Given the description of an element on the screen output the (x, y) to click on. 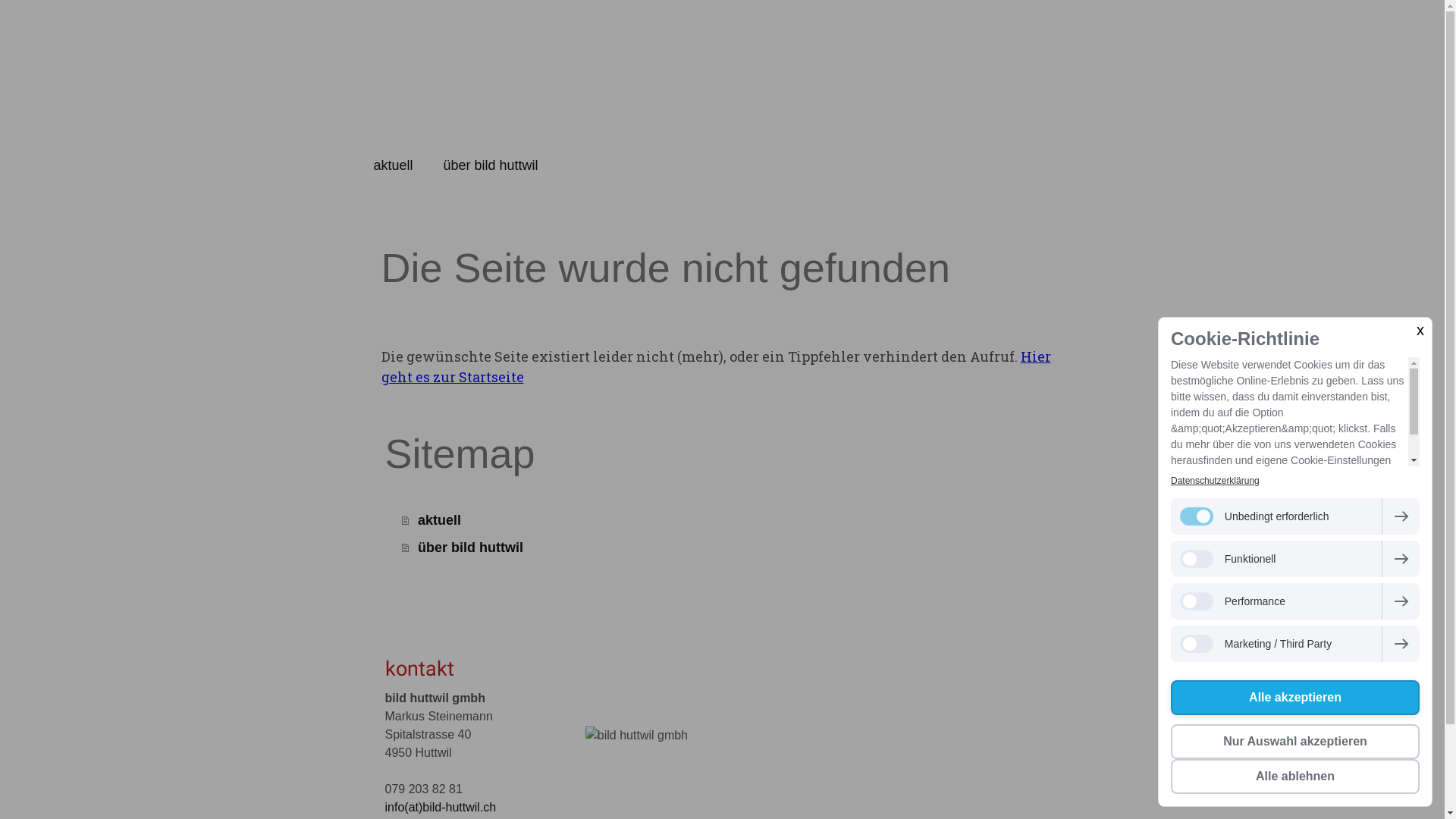
Hier geht es zur Startseite Element type: text (715, 366)
Alle akzeptieren Element type: text (1294, 697)
aktuell Element type: text (392, 165)
aktuell Element type: text (732, 519)
Nur Auswahl akzeptieren Element type: text (1294, 741)
info(at)bild-huttwil.ch Element type: text (440, 806)
Alle ablehnen Element type: text (1294, 776)
bild huttwil gmbh, Spitalstrasse 40, 4950 Huttwil, Bern Element type: text (722, 104)
